Given the description of an element on the screen output the (x, y) to click on. 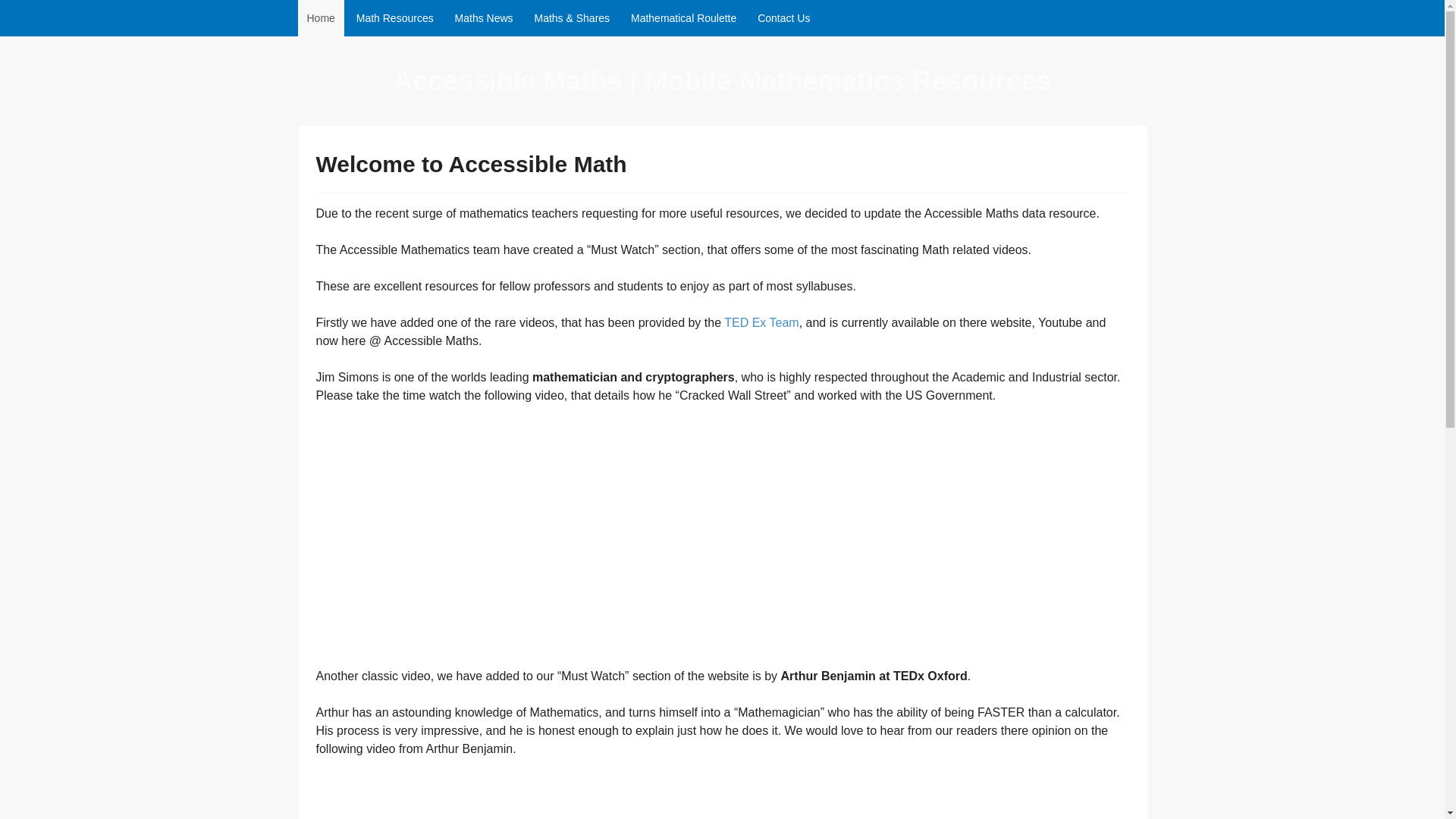
Contact Us (783, 18)
Home (320, 18)
Maths News (483, 18)
Mathematical Roulette (683, 18)
Math Resources (394, 18)
TED Ex Team (760, 322)
